Given the description of an element on the screen output the (x, y) to click on. 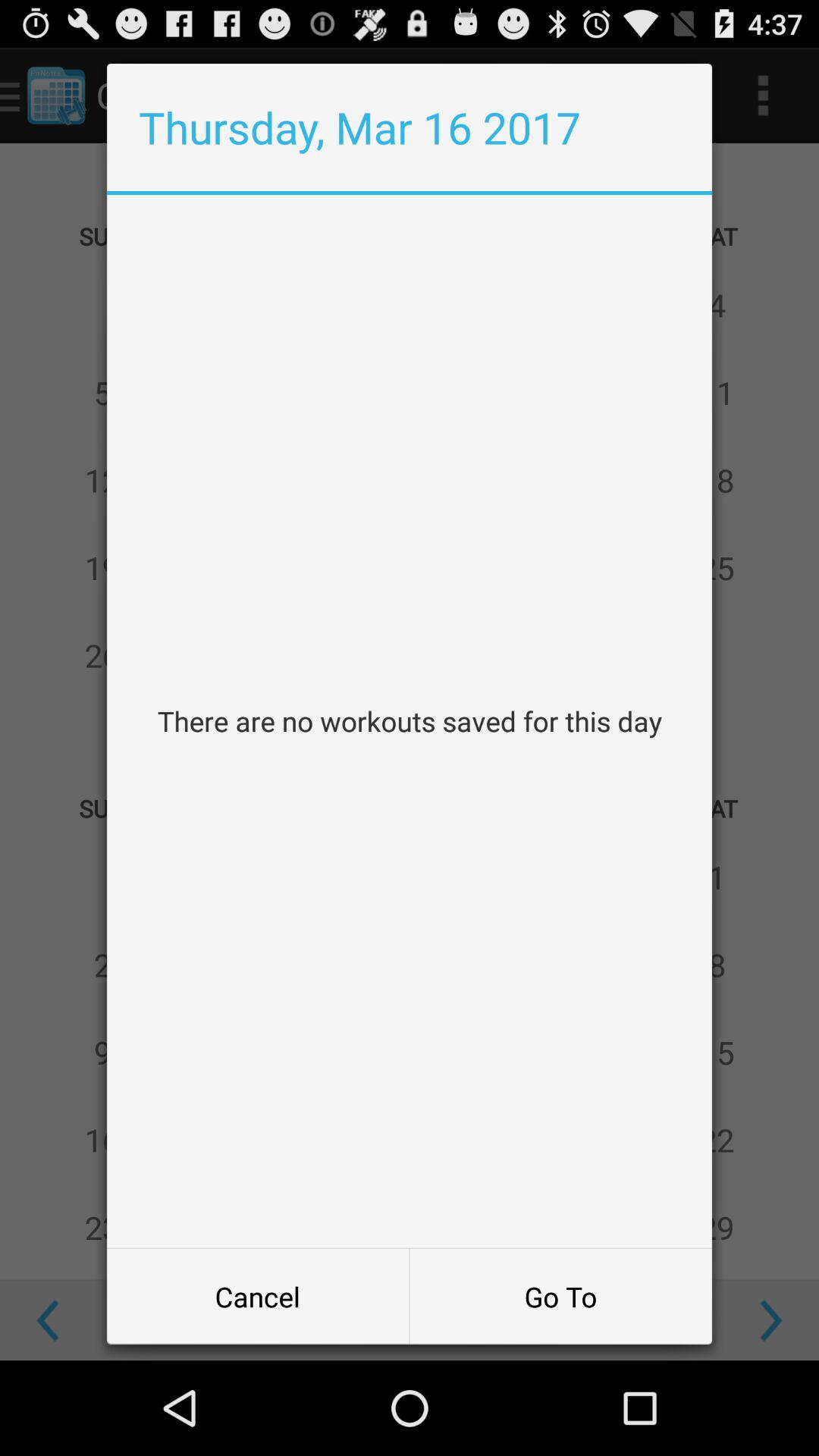
launch the cancel (257, 1296)
